Given the description of an element on the screen output the (x, y) to click on. 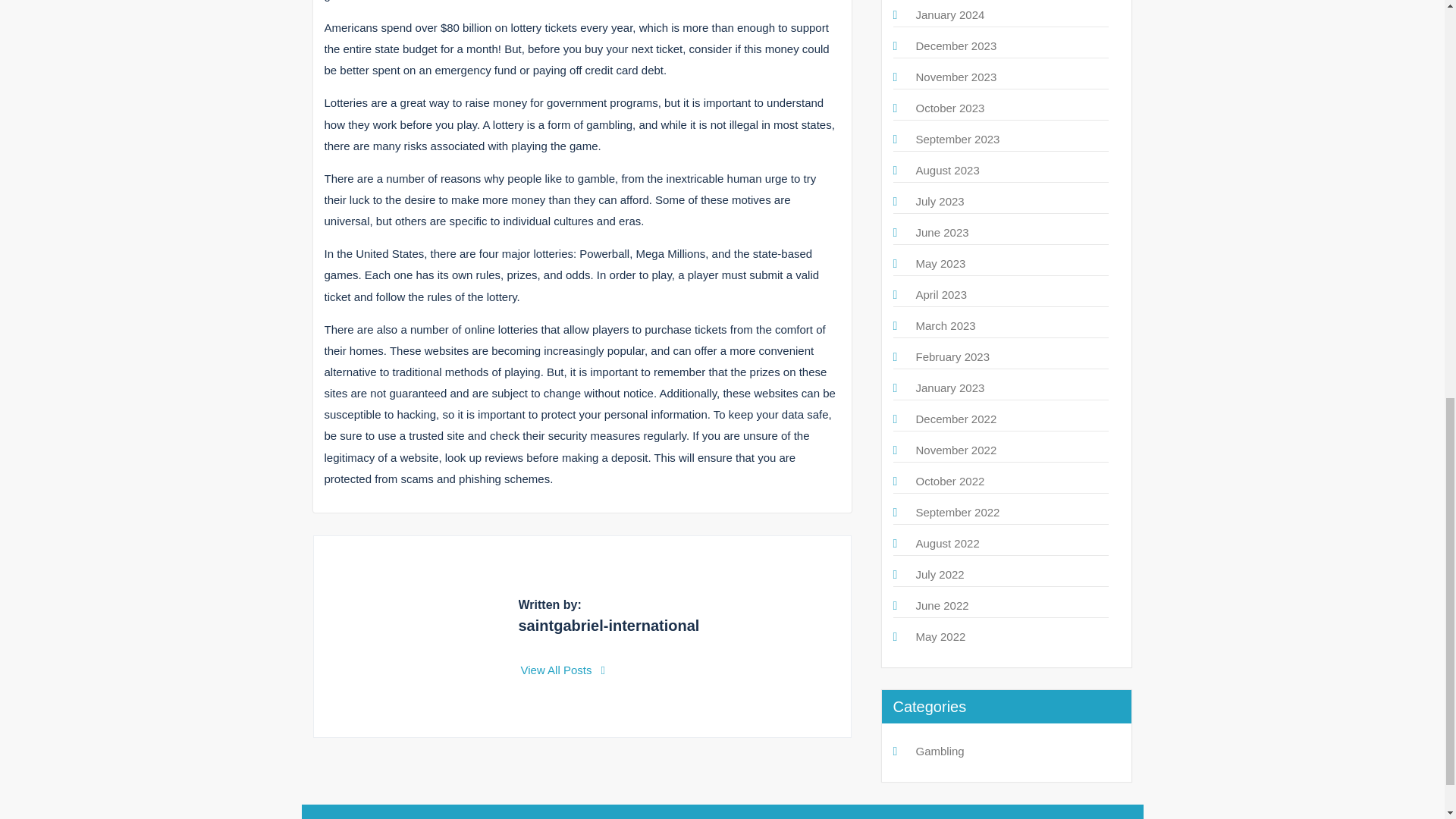
August 2023 (947, 169)
June 2023 (942, 232)
December 2023 (956, 45)
October 2023 (950, 107)
January 2024 (950, 14)
December 2022 (956, 418)
September 2023 (957, 138)
March 2023 (945, 325)
January 2023 (950, 387)
September 2022 (957, 512)
Gambling (939, 750)
May 2022 (940, 635)
View All Posts (562, 669)
November 2022 (956, 449)
May 2023 (940, 263)
